Given the description of an element on the screen output the (x, y) to click on. 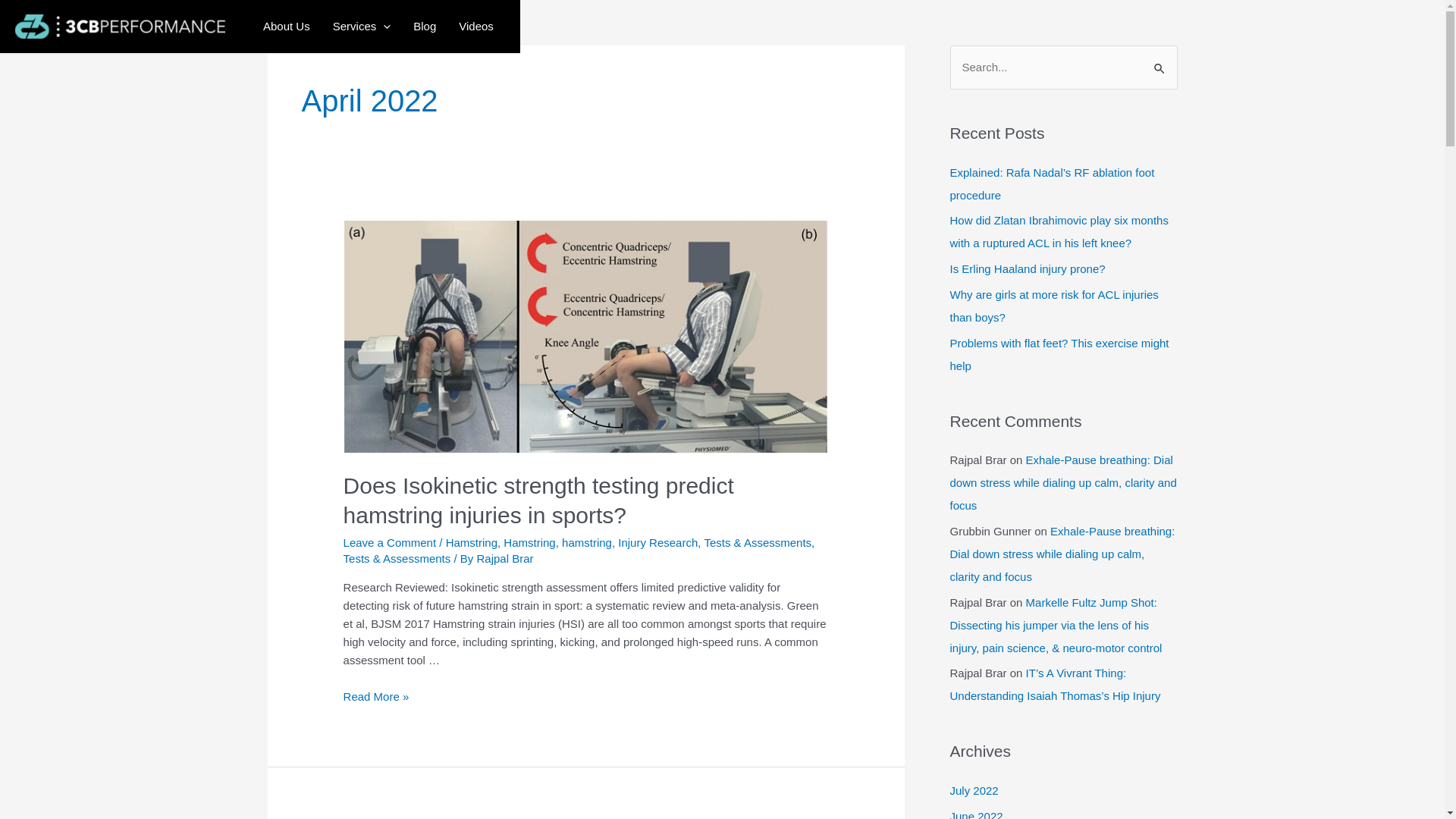
Is Erling Haaland injury prone? Element type: text (1026, 268)
Rajpal Brar Element type: text (504, 558)
Blog Element type: text (424, 26)
Injury Research Element type: text (657, 542)
Hamstring Element type: text (471, 542)
Services Element type: text (361, 26)
Hamstring Element type: text (529, 542)
Search Element type: text (1160, 60)
Tests & Assessments Element type: text (397, 558)
Why are girls at more risk for ACL injuries than boys? Element type: text (1053, 305)
Videos Element type: text (476, 26)
Tests & Assessments Element type: text (757, 542)
July 2022 Element type: text (973, 790)
About Us Element type: text (286, 26)
Problems with flat feet? This exercise might help Element type: text (1058, 354)
Leave a Comment Element type: text (389, 542)
hamstring Element type: text (586, 542)
